Given the description of an element on the screen output the (x, y) to click on. 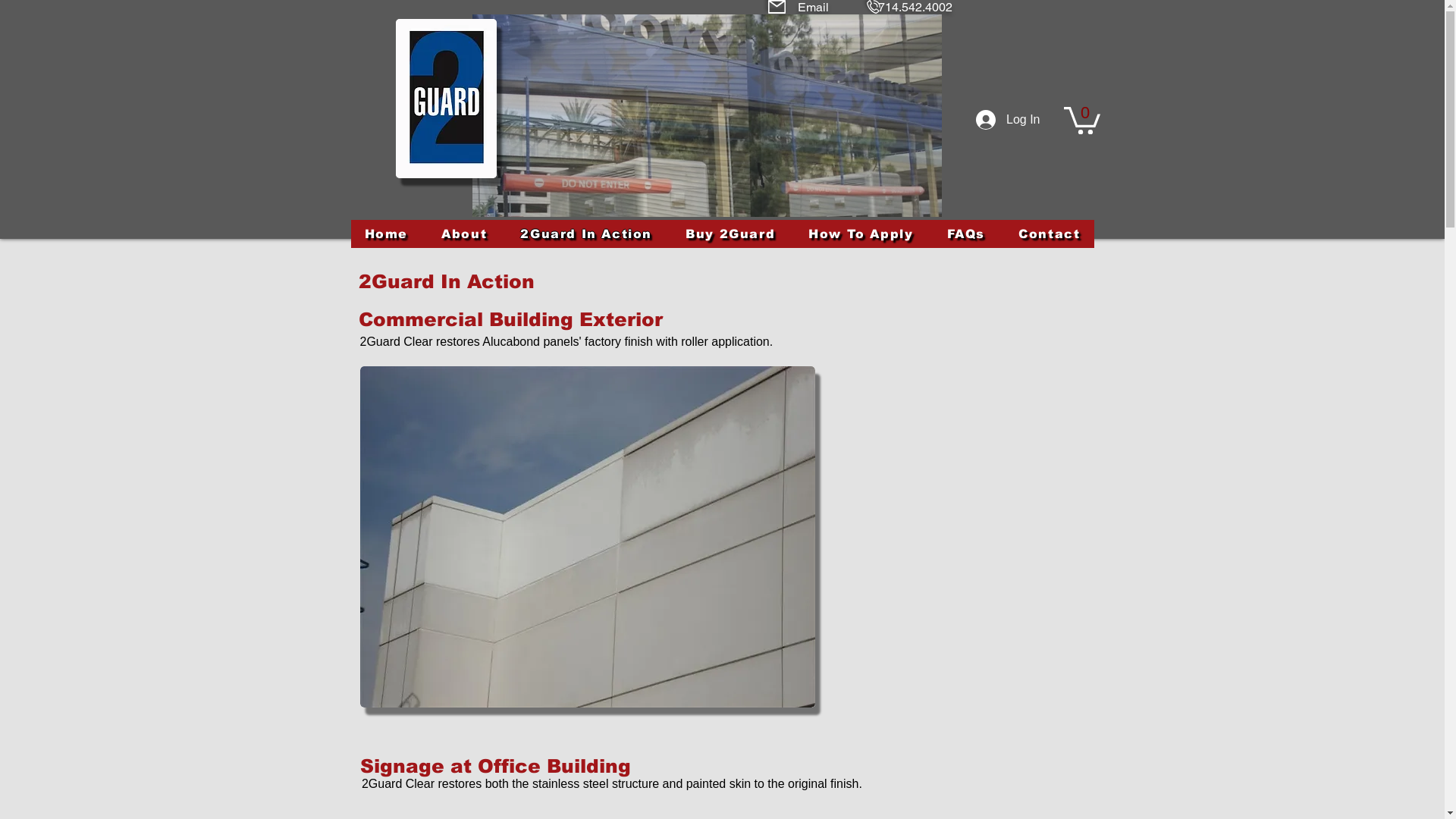
Buy 2Guard Element type: text (729, 233)
Email Element type: text (812, 7)
Contact Element type: text (1048, 233)
FAQs Element type: text (966, 233)
714.542.4002 Element type: text (915, 7)
0 Element type: text (1081, 118)
Log In Element type: text (1007, 119)
2Guard In Action Element type: text (585, 233)
Home Element type: text (385, 233)
About Element type: text (463, 233)
How To Apply Element type: text (860, 233)
